Given the description of an element on the screen output the (x, y) to click on. 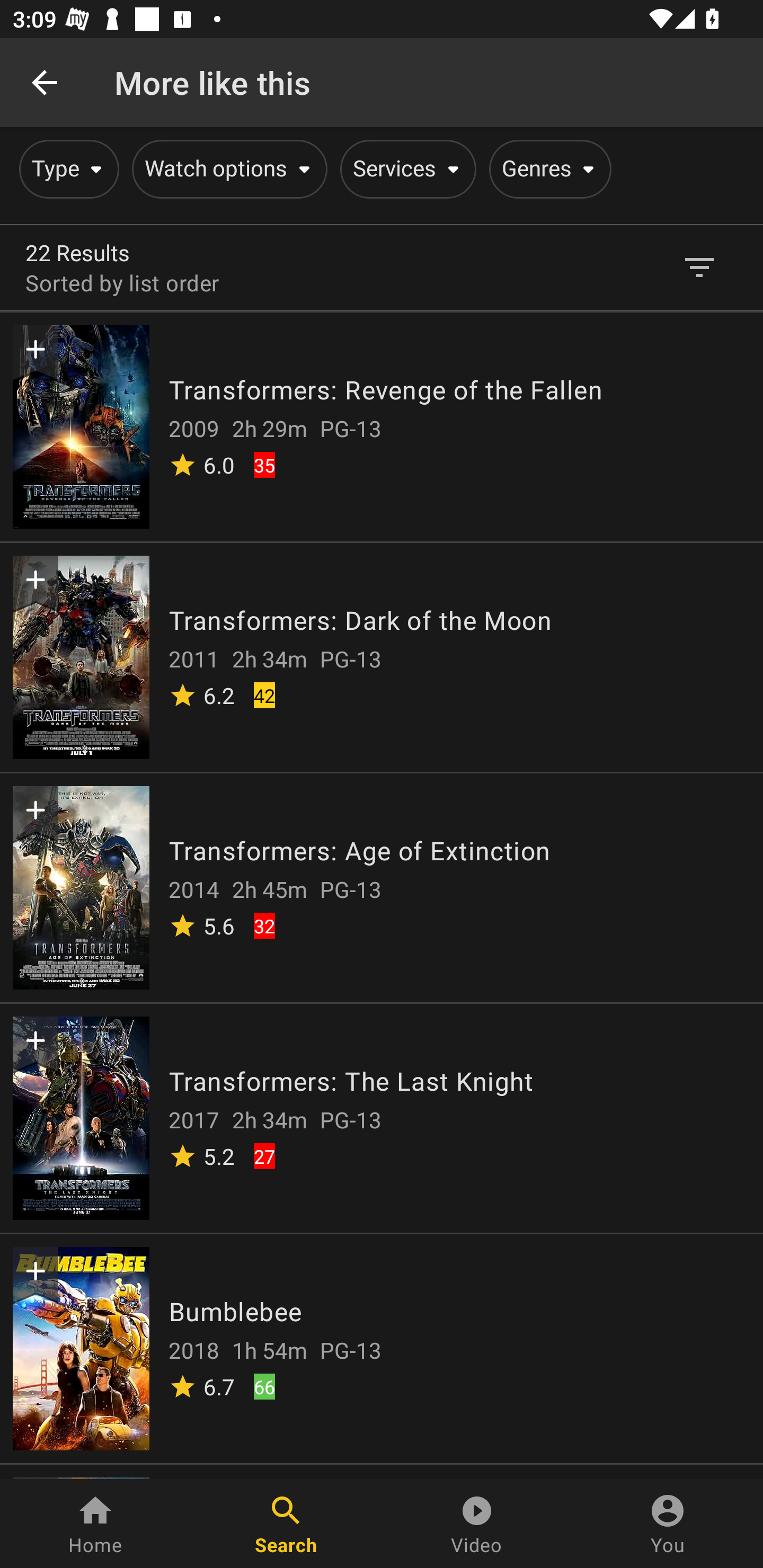
Type (65, 169)
Watch options (226, 169)
Services (405, 169)
Genres (547, 169)
Bumblebee 2018 1h 54m PG-13 6.7 66 (381, 1347)
Home (95, 1523)
Video (476, 1523)
You (667, 1523)
